Given the description of an element on the screen output the (x, y) to click on. 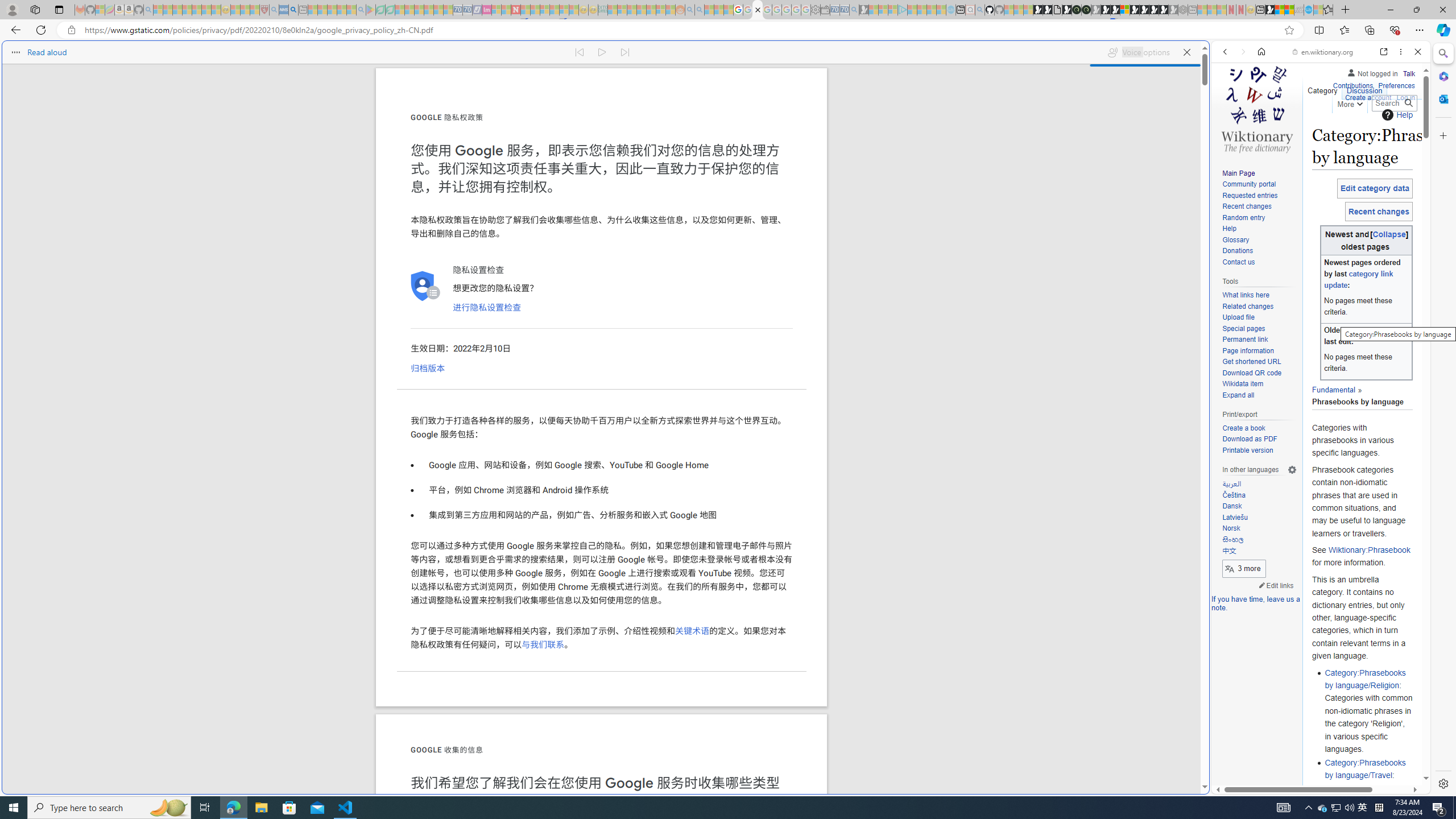
Not logged in (1371, 71)
Edit links (1276, 585)
[Collapse] (1389, 233)
Close read aloud (1186, 52)
en.wiktionary.org (1323, 51)
If you have time, leave us a note. (1255, 603)
Create account (1367, 98)
